Given the description of an element on the screen output the (x, y) to click on. 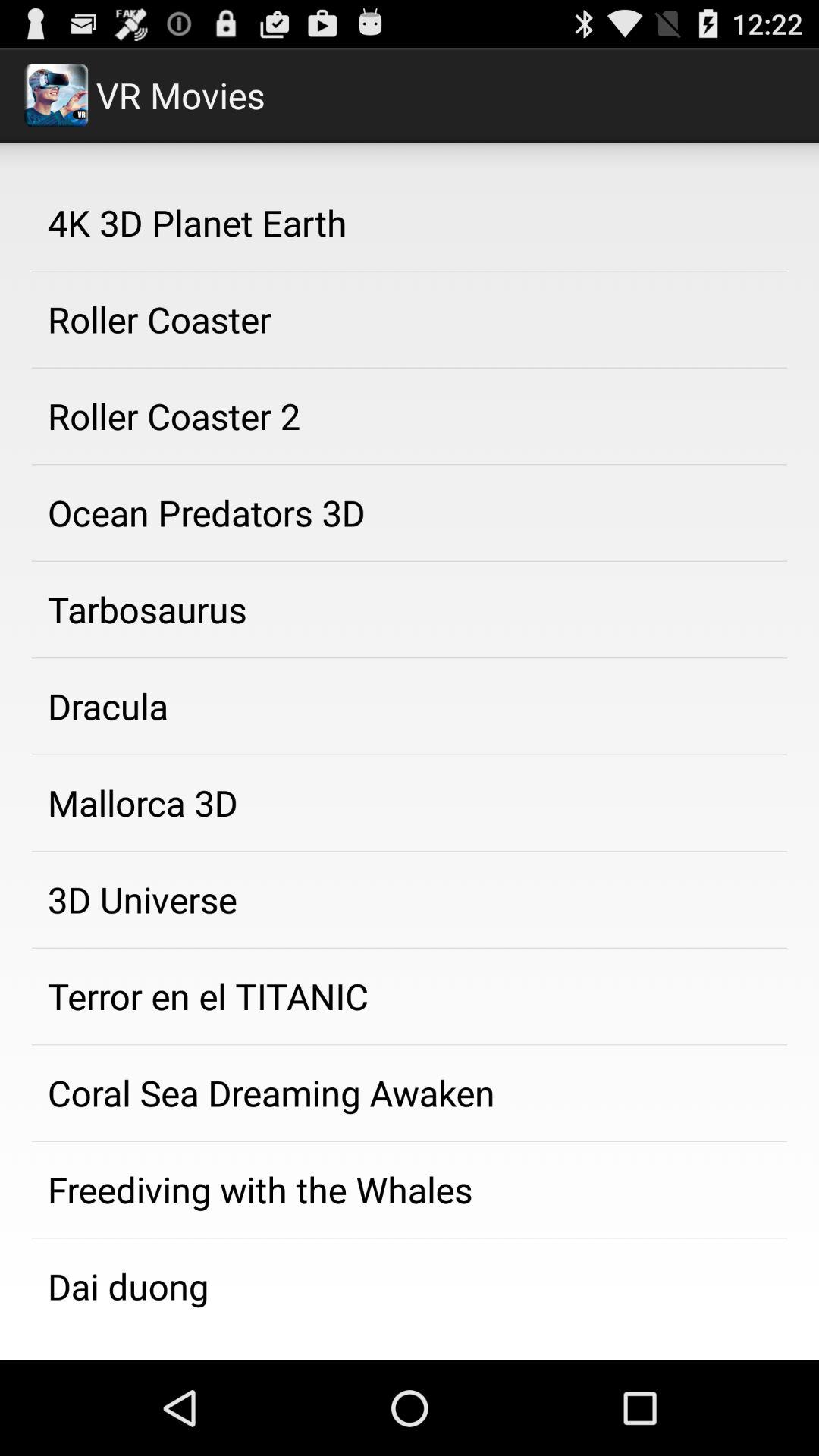
open the icon below coral sea dreaming item (409, 1189)
